Given the description of an element on the screen output the (x, y) to click on. 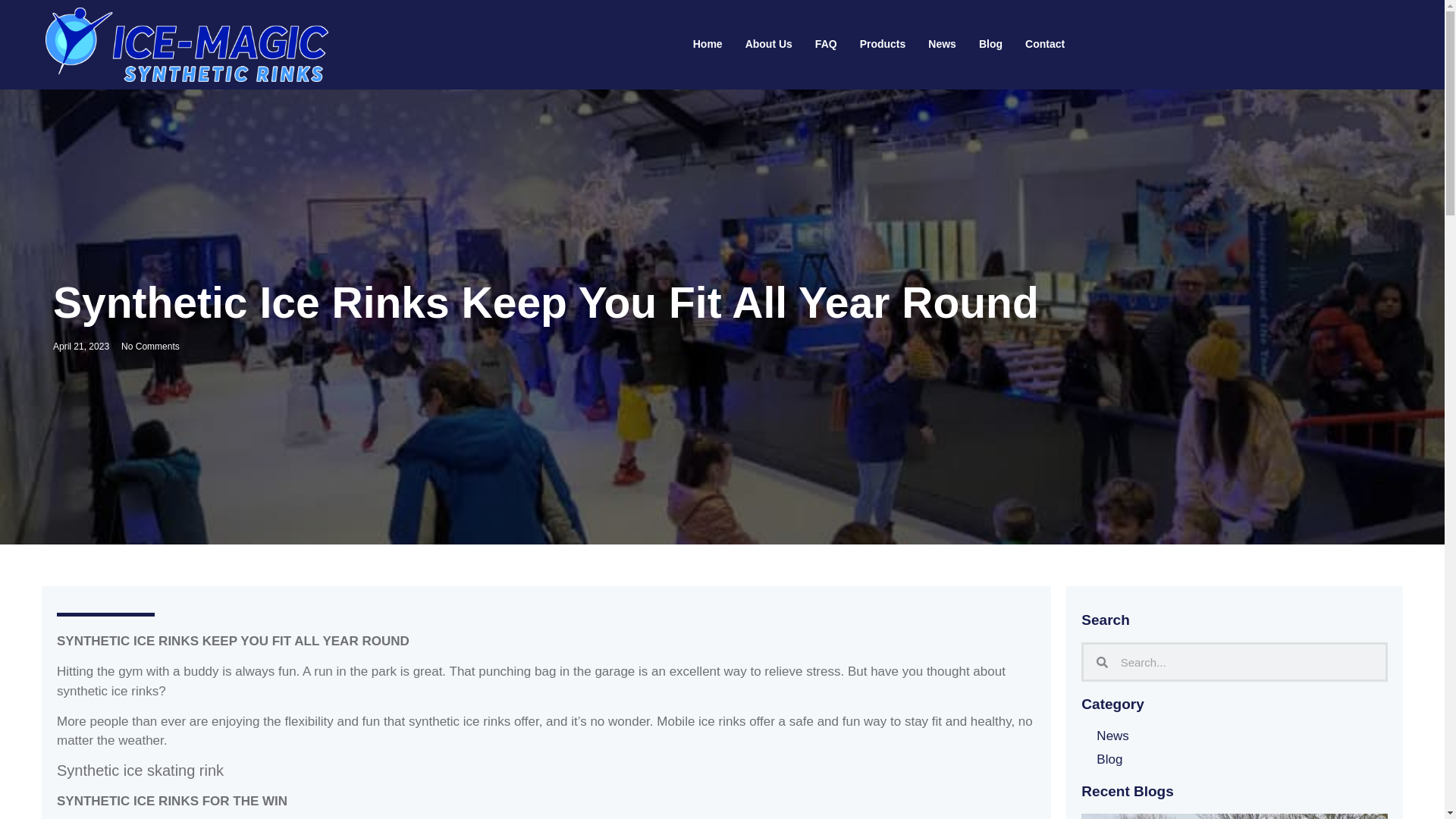
FAQ (825, 44)
Blog (990, 44)
Products (882, 44)
Home (707, 44)
No Comments (149, 345)
News (1112, 736)
Contact (1044, 44)
Blog (1109, 759)
April 21, 2023 (80, 345)
About Us (768, 44)
